Given the description of an element on the screen output the (x, y) to click on. 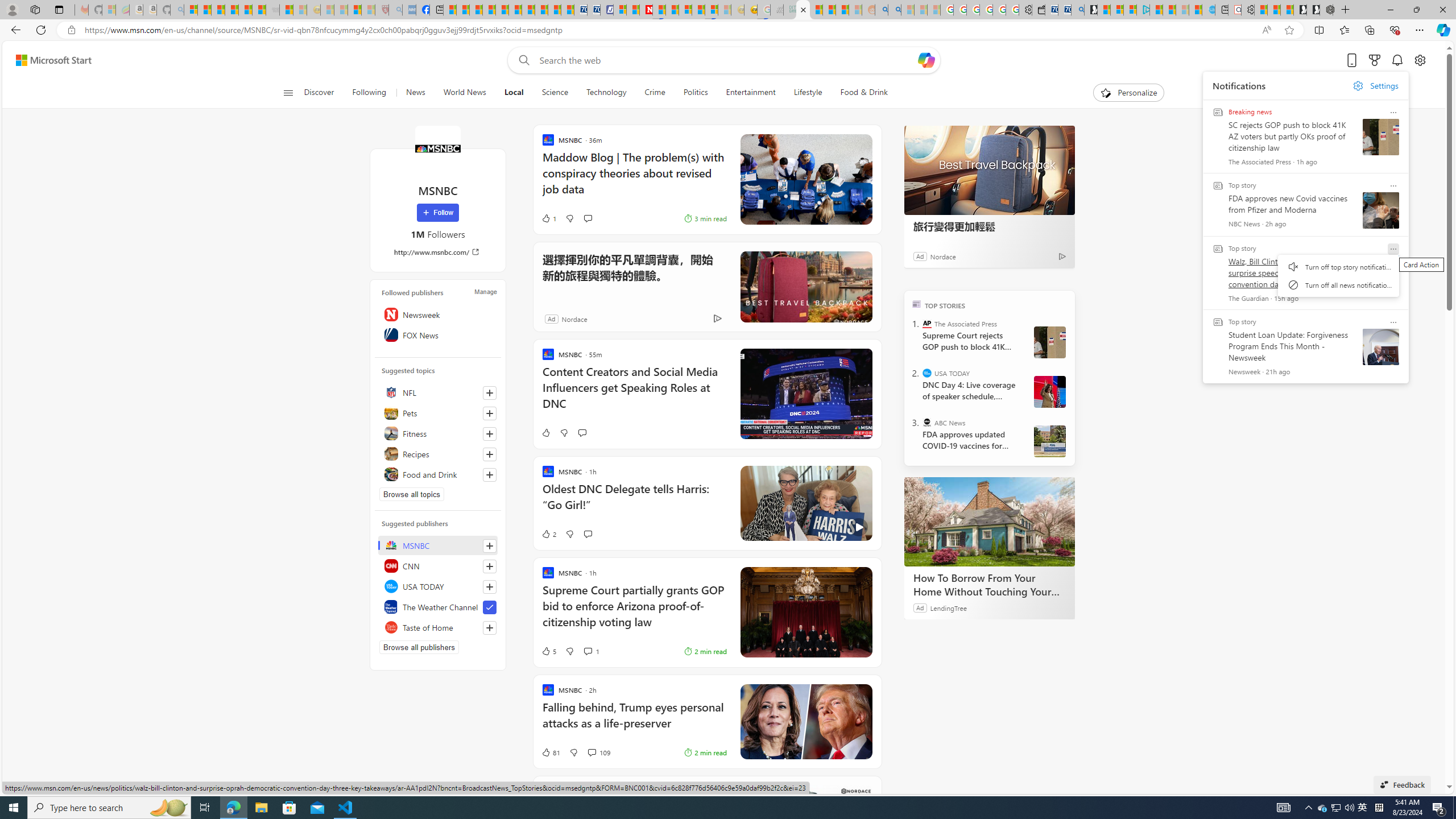
Pets (437, 412)
http://www.msnbc.com/ (438, 251)
The Weather Channel - MSN (218, 9)
Browse all topics (412, 494)
ABC News (927, 422)
Recipes (437, 453)
View comments 109 Comment (591, 751)
CNN (437, 565)
